Given the description of an element on the screen output the (x, y) to click on. 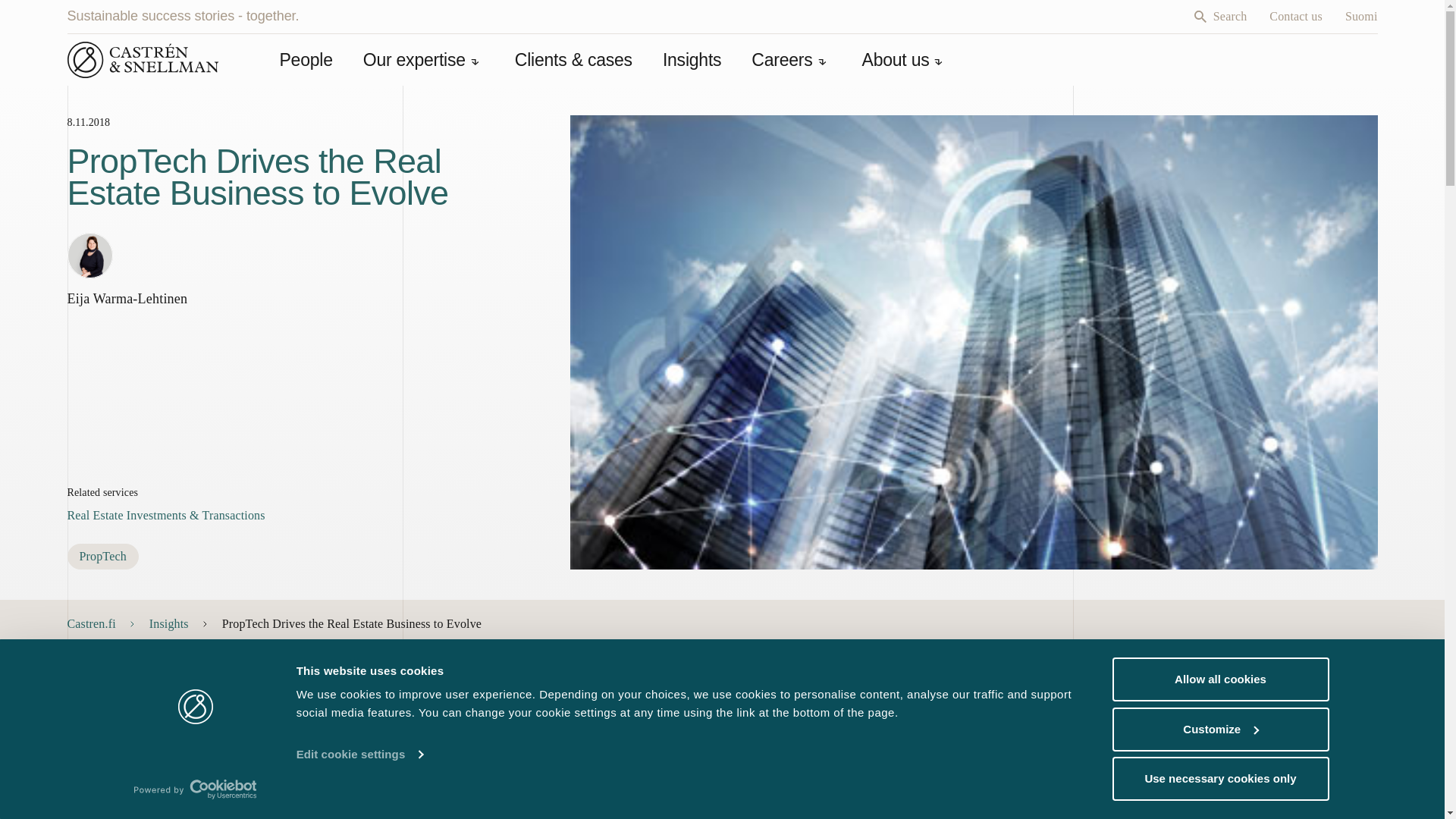
Edit cookie settings (360, 753)
Allow all cookies (1219, 679)
Customize (1219, 728)
Use necessary cookies only (1219, 778)
